Given the description of an element on the screen output the (x, y) to click on. 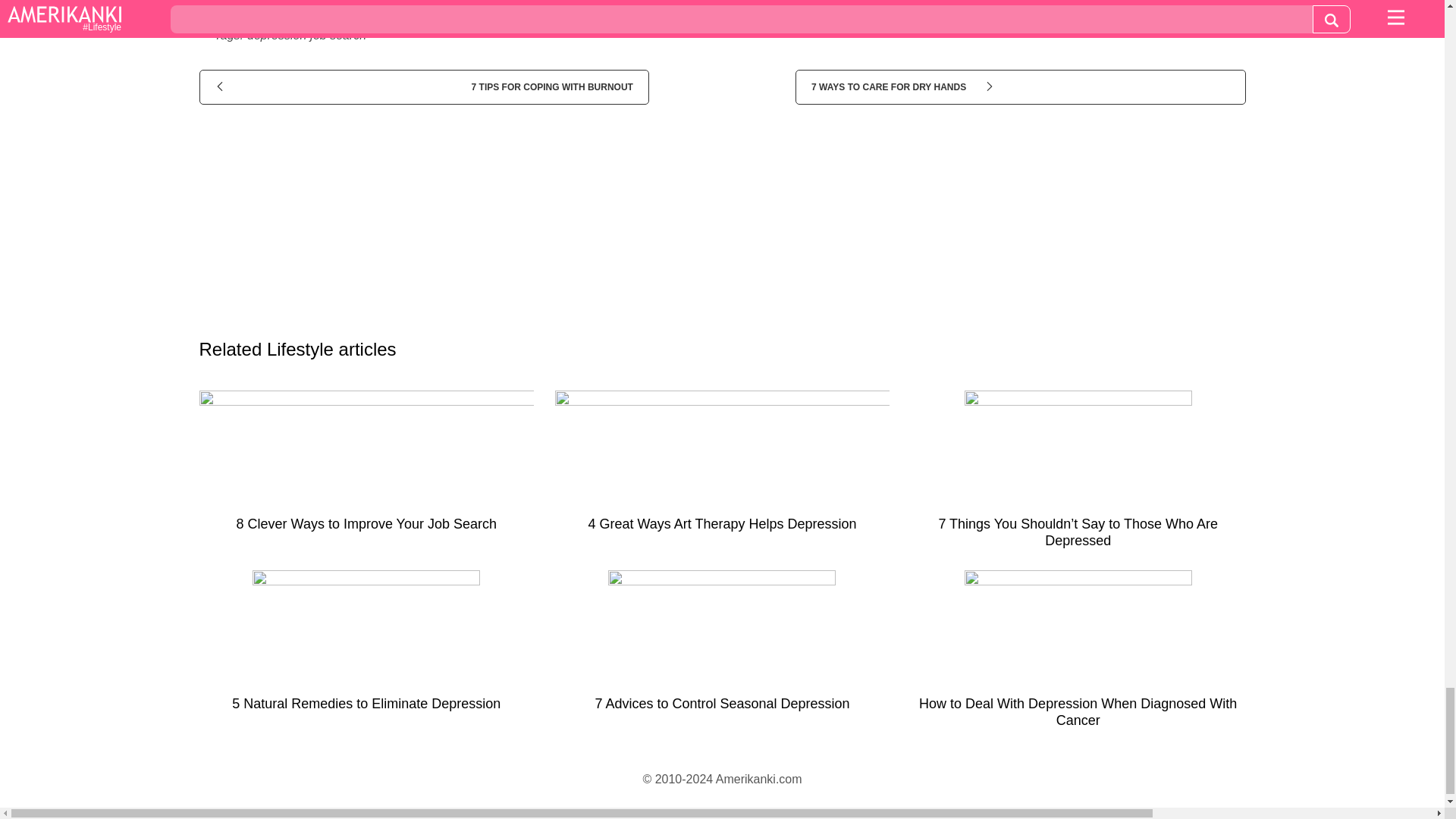
7 TIPS FOR COPING WITH BURNOUT (422, 86)
Share on Twitter (748, 5)
7 Ways to Care for Dry Hands (1019, 86)
7 WAYS TO CARE FOR DRY HANDS (1019, 86)
7 Tips for Coping with Burnout (422, 86)
4 Great Ways Art Therapy Helps Depression (721, 467)
8 Clever Ways to Improve Your Job Search (366, 467)
Share on Facebook (381, 5)
